Given the description of an element on the screen output the (x, y) to click on. 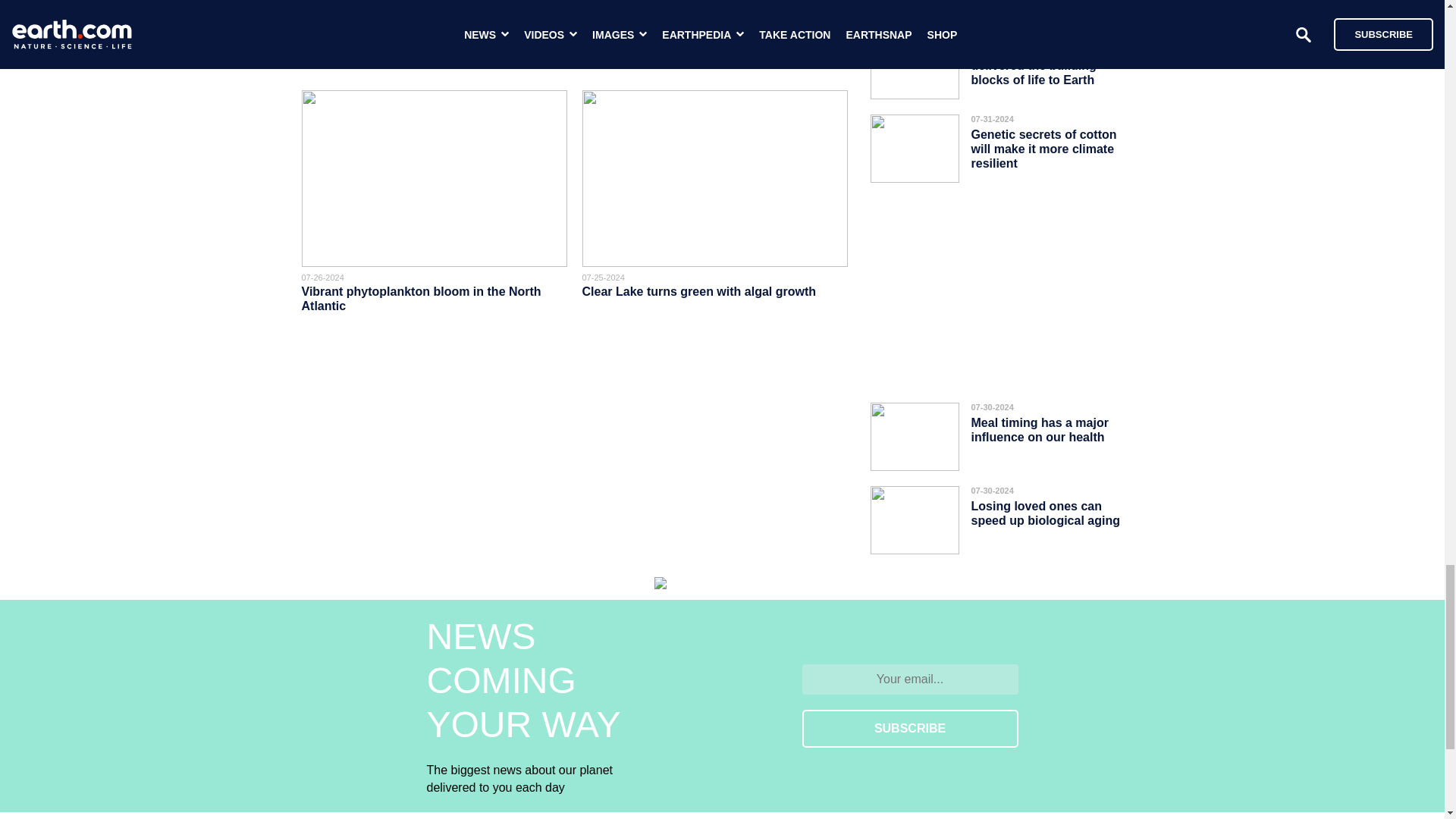
Vibrant phytoplankton bloom in the North Atlantic (421, 298)
Hainan Strait in southern China (672, 37)
Wispy sea ice patterns off the coast of Greenland (411, 44)
Clear Lake turns green with algal growth (699, 291)
